Given the description of an element on the screen output the (x, y) to click on. 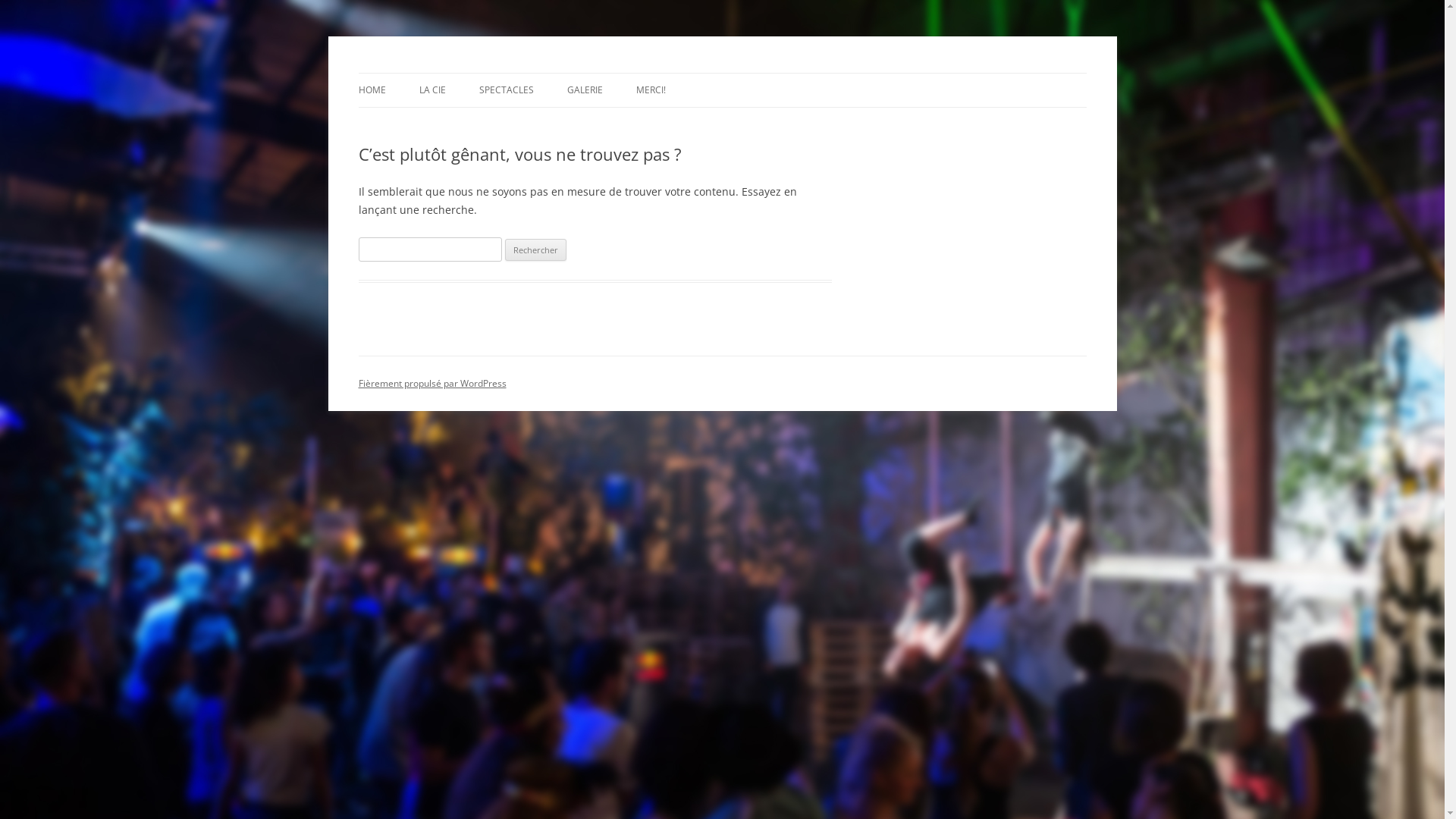
MERCI! Element type: text (650, 89)
HOME Element type: text (371, 89)
Aller au contenu Element type: text (721, 72)
GALERIE Element type: text (584, 89)
Cie Suspension Element type: text (430, 72)
Rechercher Element type: text (535, 249)
LA CIE Element type: text (431, 89)
SPECTACLES Element type: text (506, 89)
PHOTOS Element type: text (642, 122)
